Given the description of an element on the screen output the (x, y) to click on. 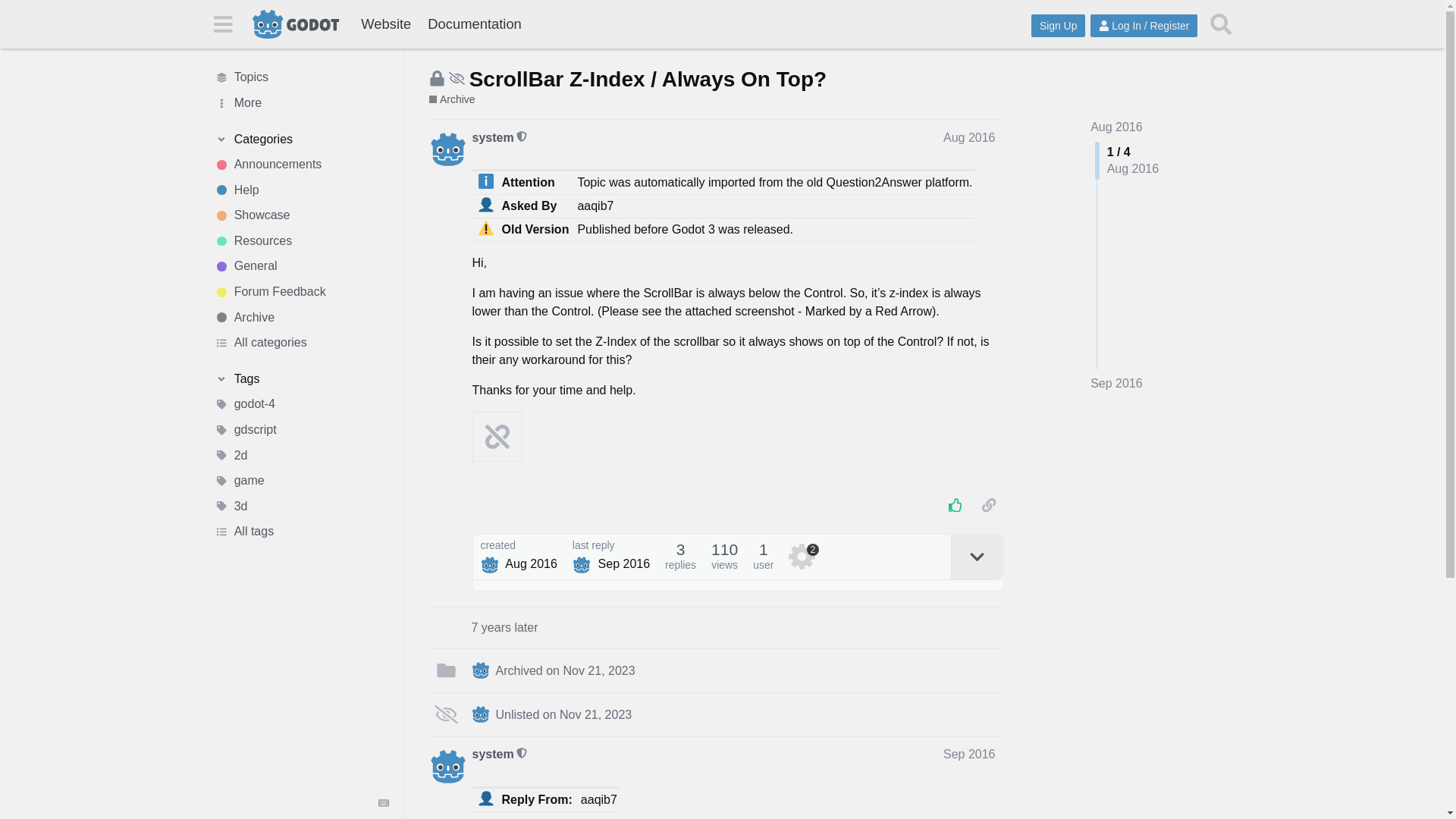
Sign Up (1057, 25)
Aug 2016 (969, 137)
General (301, 266)
Toggle section (301, 379)
Help (301, 190)
Website (385, 23)
system (492, 137)
All tags (301, 532)
Toggle section (301, 139)
Sidebar (222, 23)
3d (301, 506)
game (301, 481)
godot-4 (301, 404)
Topics (301, 77)
